Given the description of an element on the screen output the (x, y) to click on. 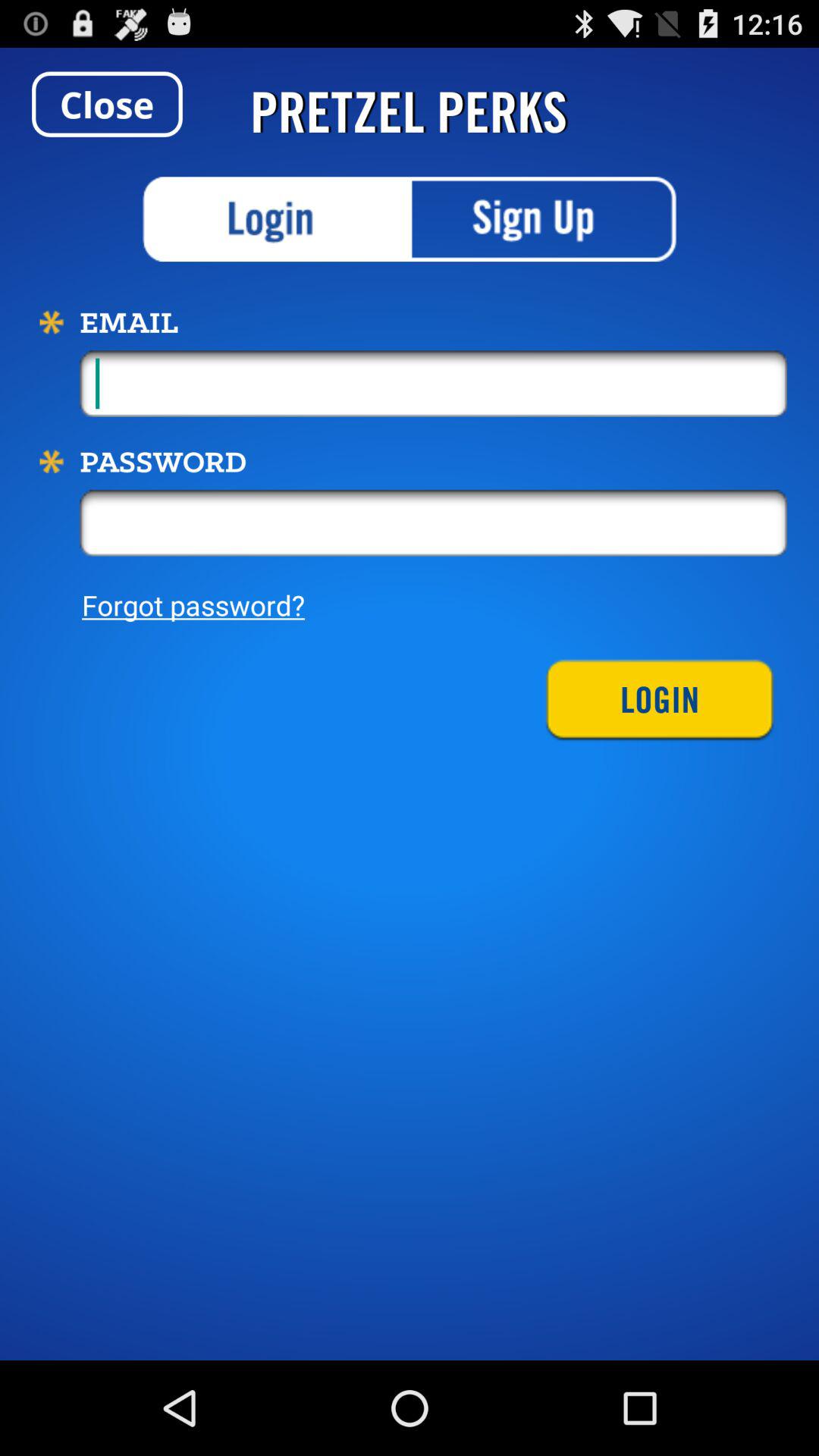
email login (276, 218)
